Given the description of an element on the screen output the (x, y) to click on. 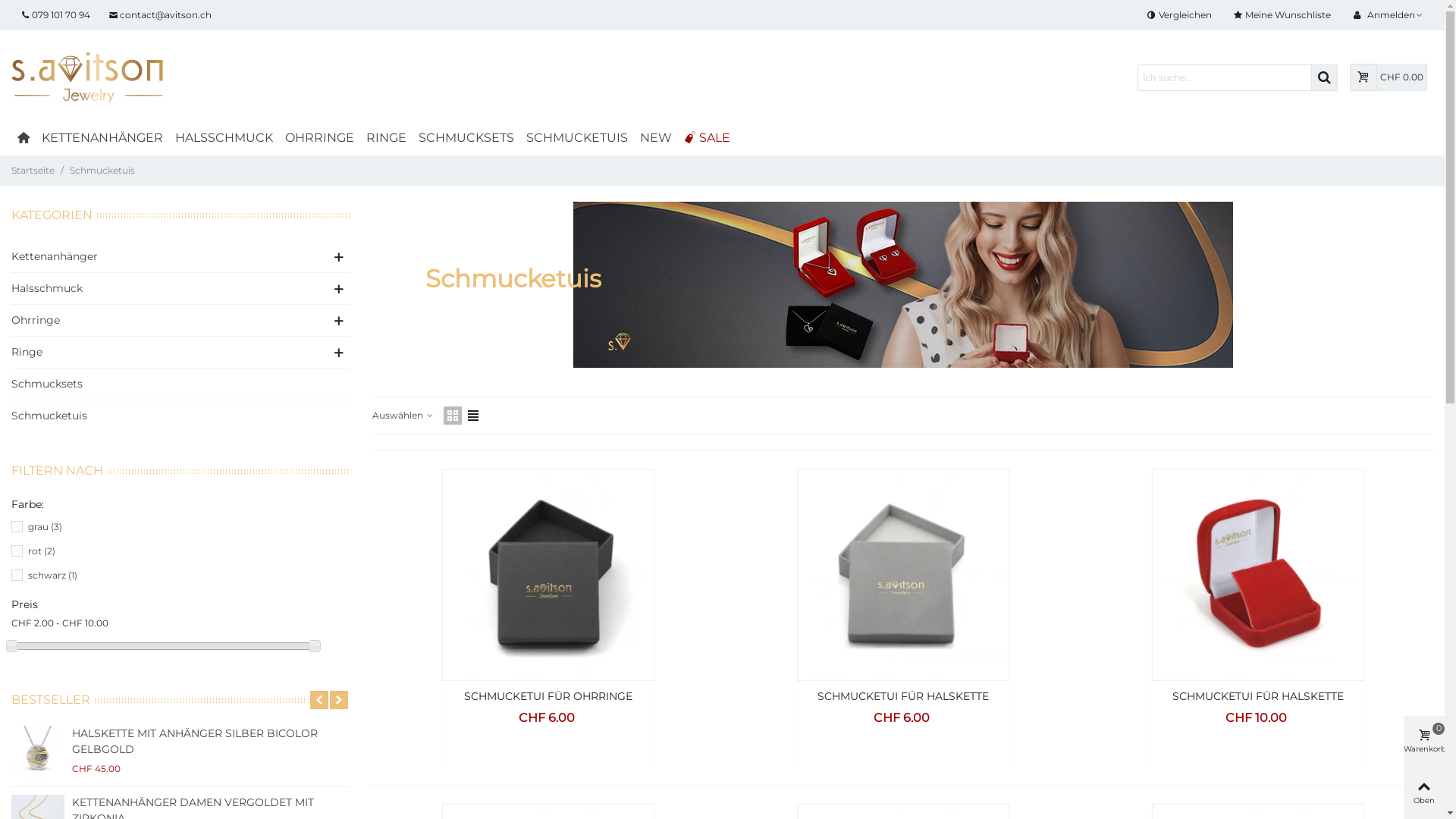
DAMEN OHRSTECKER HERZ AUS STERLINGSILBER 925 Element type: text (210, 741)
RINGE Element type: text (386, 137)
SCHMUCKSETS Element type: text (466, 137)
HALSSCHMUCK Element type: text (224, 137)
Schmucksets Element type: text (180, 383)
OHRRINGE Element type: text (319, 137)
SALE Element type: text (706, 137)
Startseite Element type: text (33, 169)
avitson.ch Element type: hover (87, 77)
Damen Ohrstecker Herz aus Sterlingsilber 925 Element type: hover (37, 751)
NEW Element type: text (655, 137)
schwarz (1) Element type: text (52, 575)
contact@avitson.ch Element type: text (159, 15)
Ringe Element type: text (167, 351)
rot (2) Element type: text (41, 551)
Halsschmuck Element type: text (167, 288)
Meine Wunschliste Element type: text (1283, 15)
grau (3) Element type: text (45, 526)
CHF 0.00 Element type: text (1388, 77)
KATEGORIEN Element type: text (54, 215)
Ohrringe Element type: text (167, 319)
Vergleichen Element type: text (1180, 15)
Anmelden Element type: text (1388, 15)
079 101 70 94 Element type: text (55, 15)
Rasteransicht Element type: hover (452, 415)
Schmucketuis Element type: text (180, 415)
BESTSELLER Element type: text (52, 699)
SCHMUCKETUIS Element type: text (576, 137)
Warenkorb
0 Element type: text (1423, 741)
Listenansicht Element type: hover (473, 415)
